Given the description of an element on the screen output the (x, y) to click on. 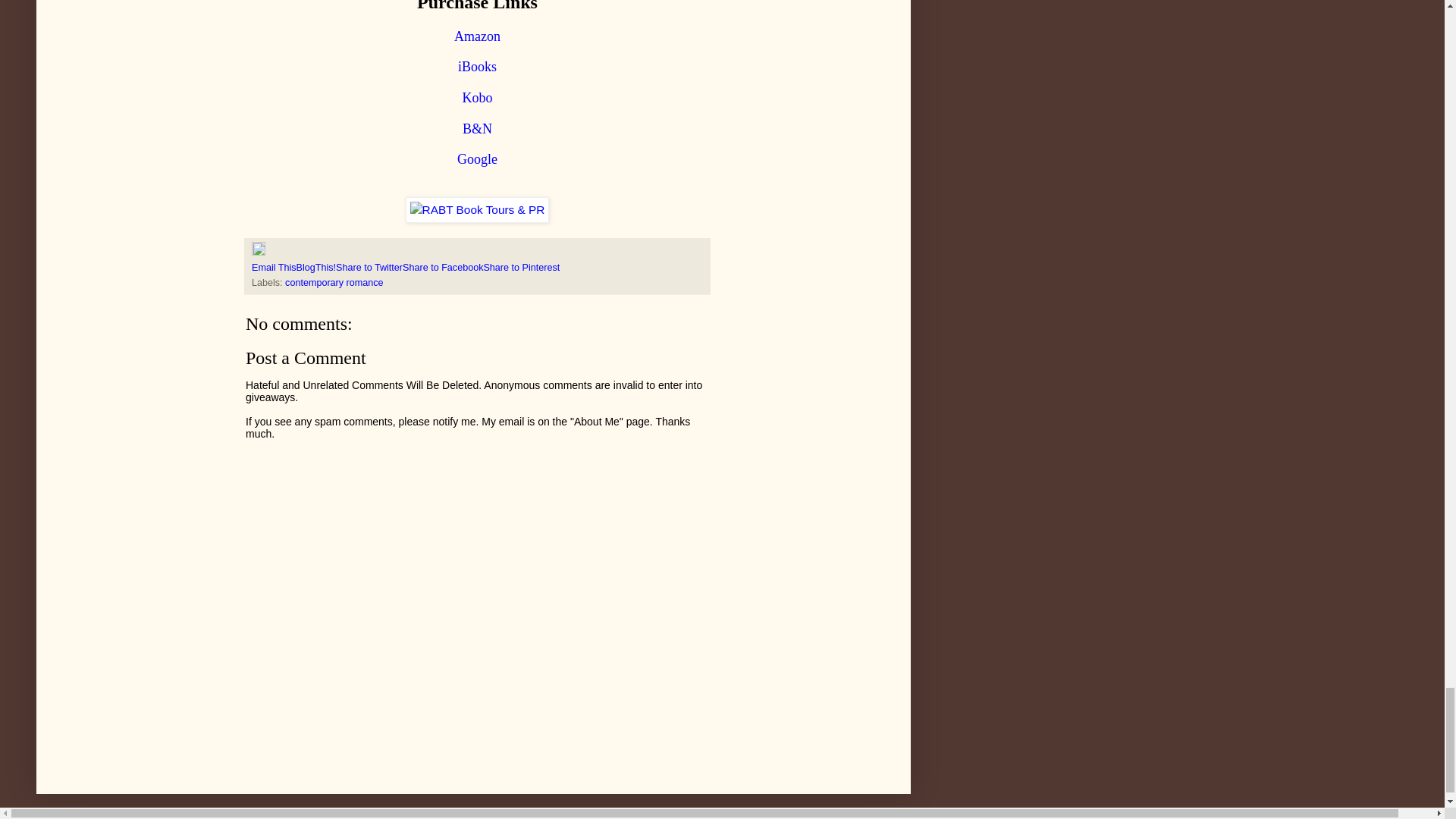
Share to Pinterest (521, 267)
Google (477, 159)
Kobo (478, 97)
Email This (274, 267)
BlogThis! (316, 267)
Share to Twitter (369, 267)
Amazon (477, 36)
Edit Post (257, 252)
iBooks (477, 66)
Share to Facebook (443, 267)
